Given the description of an element on the screen output the (x, y) to click on. 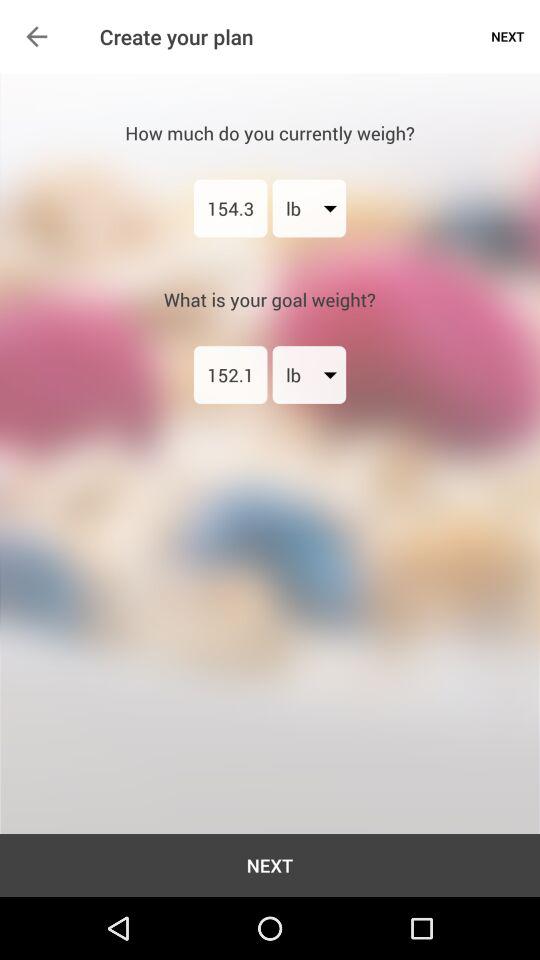
select item to the left of lb (230, 374)
